Given the description of an element on the screen output the (x, y) to click on. 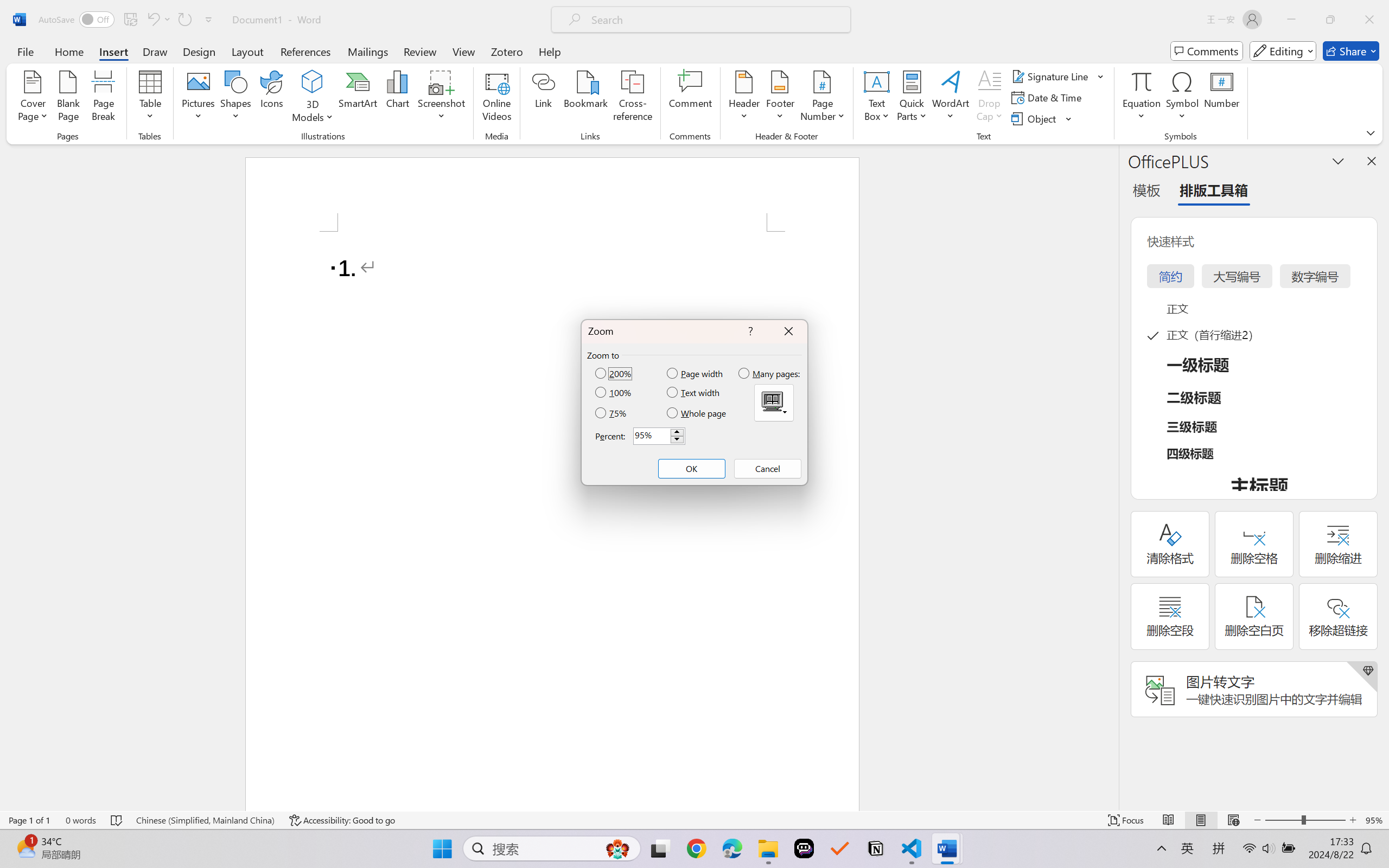
Whole page (696, 412)
3D Models (312, 81)
Zoom 95% (1374, 819)
Date & Time... (1048, 97)
MSO Generic Control Container (774, 402)
